Given the description of an element on the screen output the (x, y) to click on. 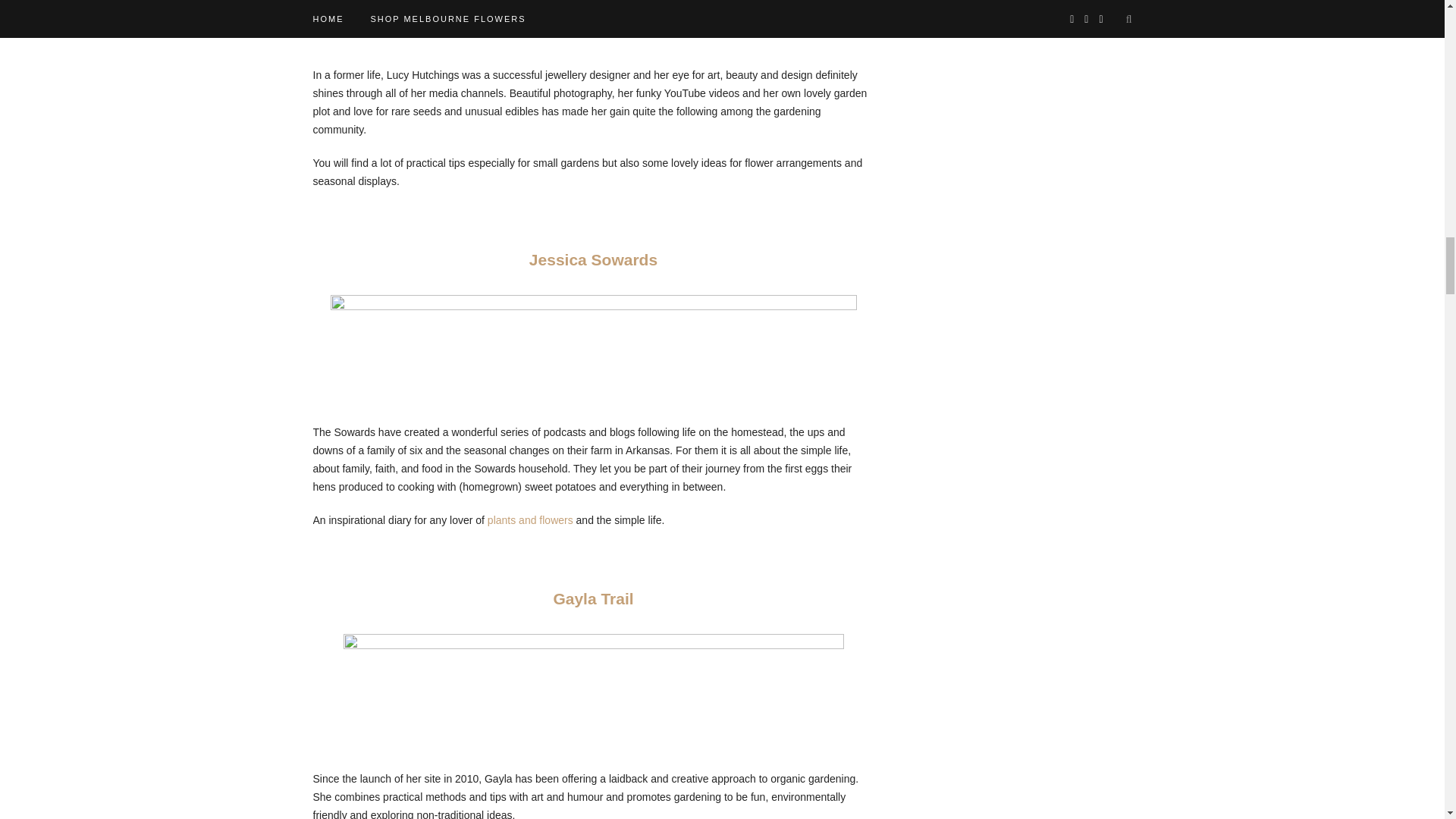
Gayla Trail (593, 598)
Jessica Sowards (593, 259)
plants and flowers (530, 520)
